Given the description of an element on the screen output the (x, y) to click on. 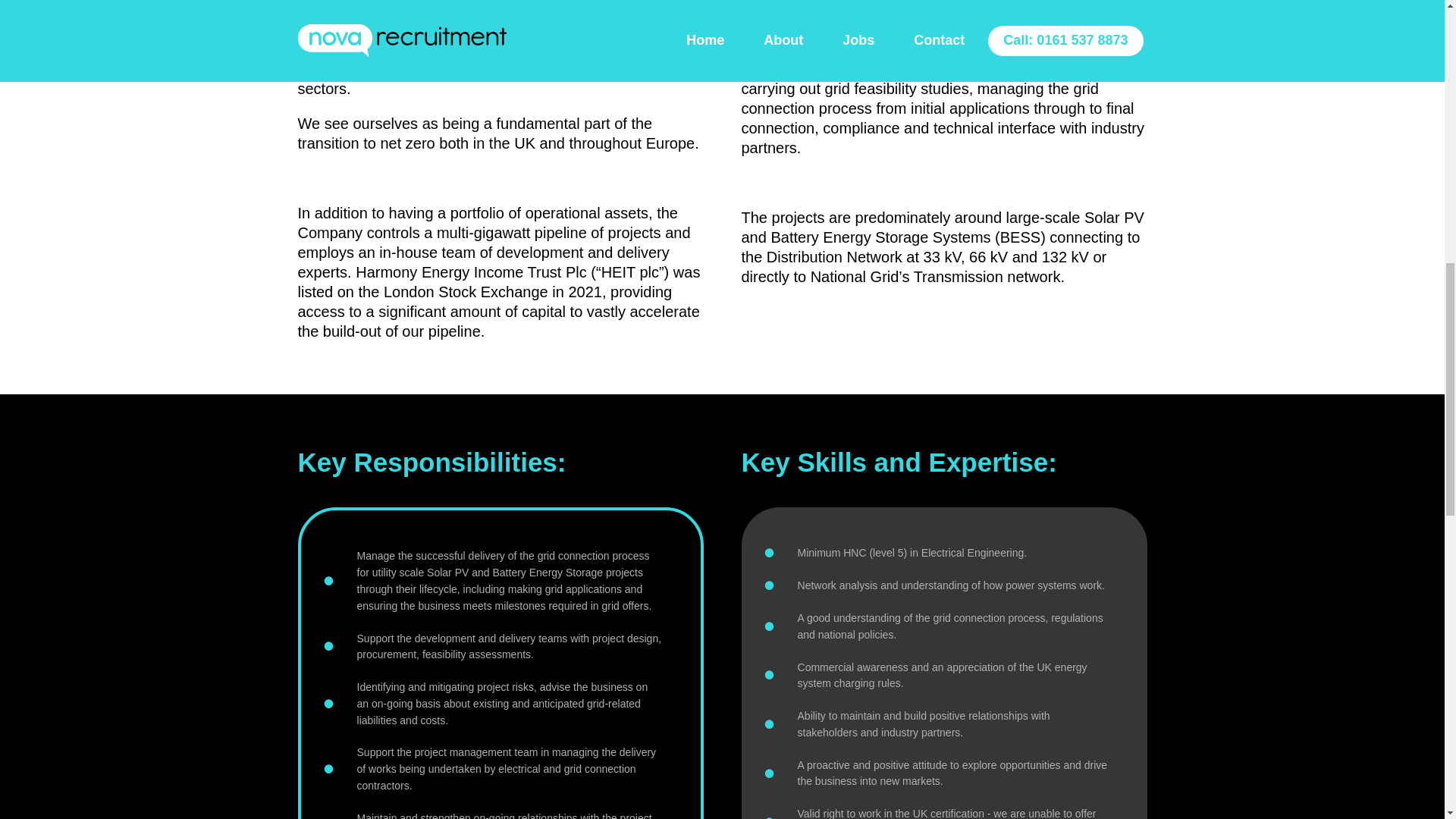
Apply Now (532, 800)
